Given the description of an element on the screen output the (x, y) to click on. 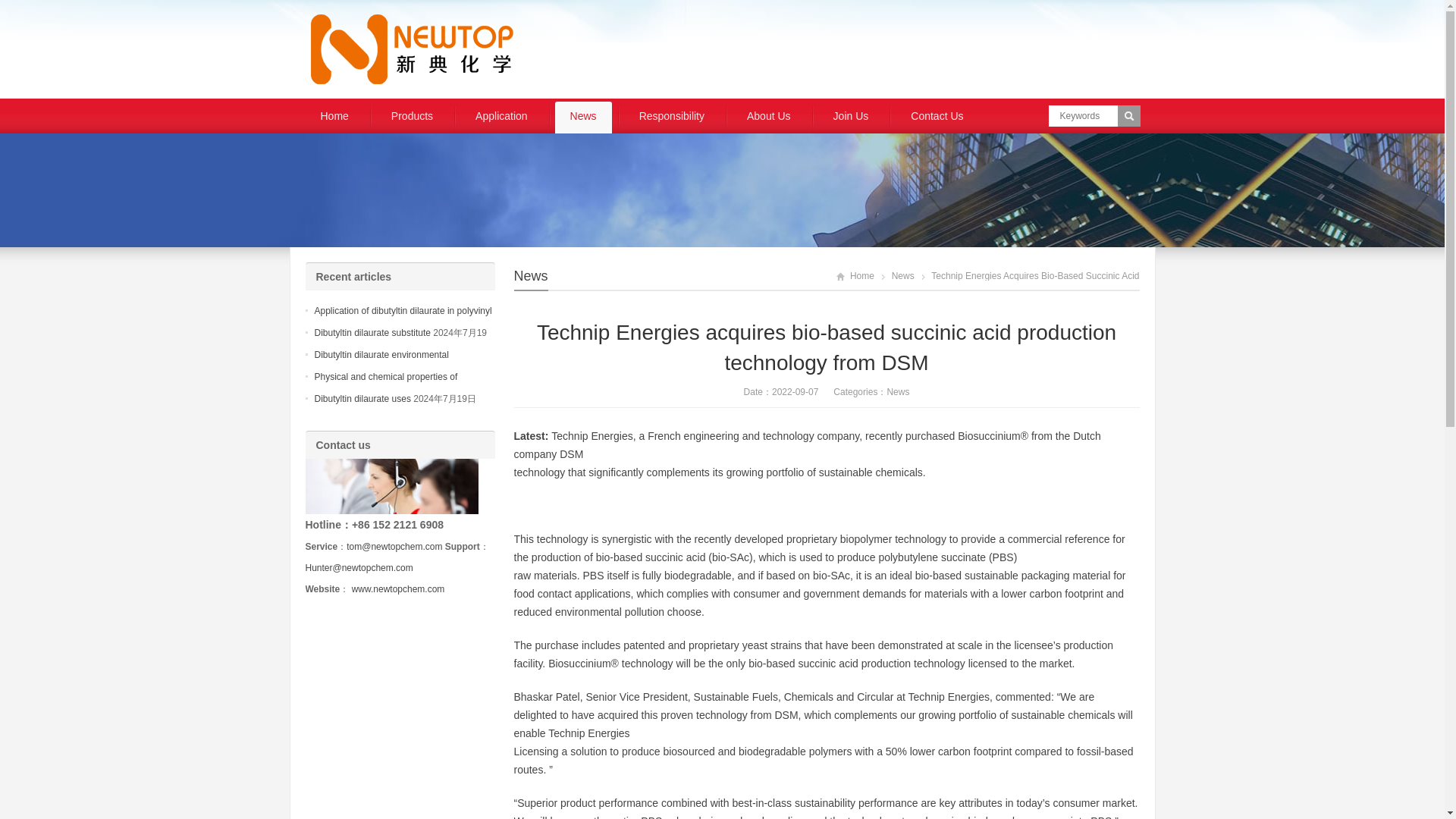
News (582, 117)
Search (1129, 115)
Responsibility (671, 117)
Physical and chemical properties of dibutyltin dilaurate (385, 385)
News (897, 391)
News (530, 275)
Home (333, 117)
News (902, 276)
www.newtopchem.com (398, 588)
Application of dibutyltin dilaurate in polyvinyl chloride (403, 319)
Search (1129, 115)
Search (1129, 115)
About Us (769, 117)
Dibutyltin dilaurate uses (362, 398)
Dibutyltin dilaurate substitute (371, 332)
